Given the description of an element on the screen output the (x, y) to click on. 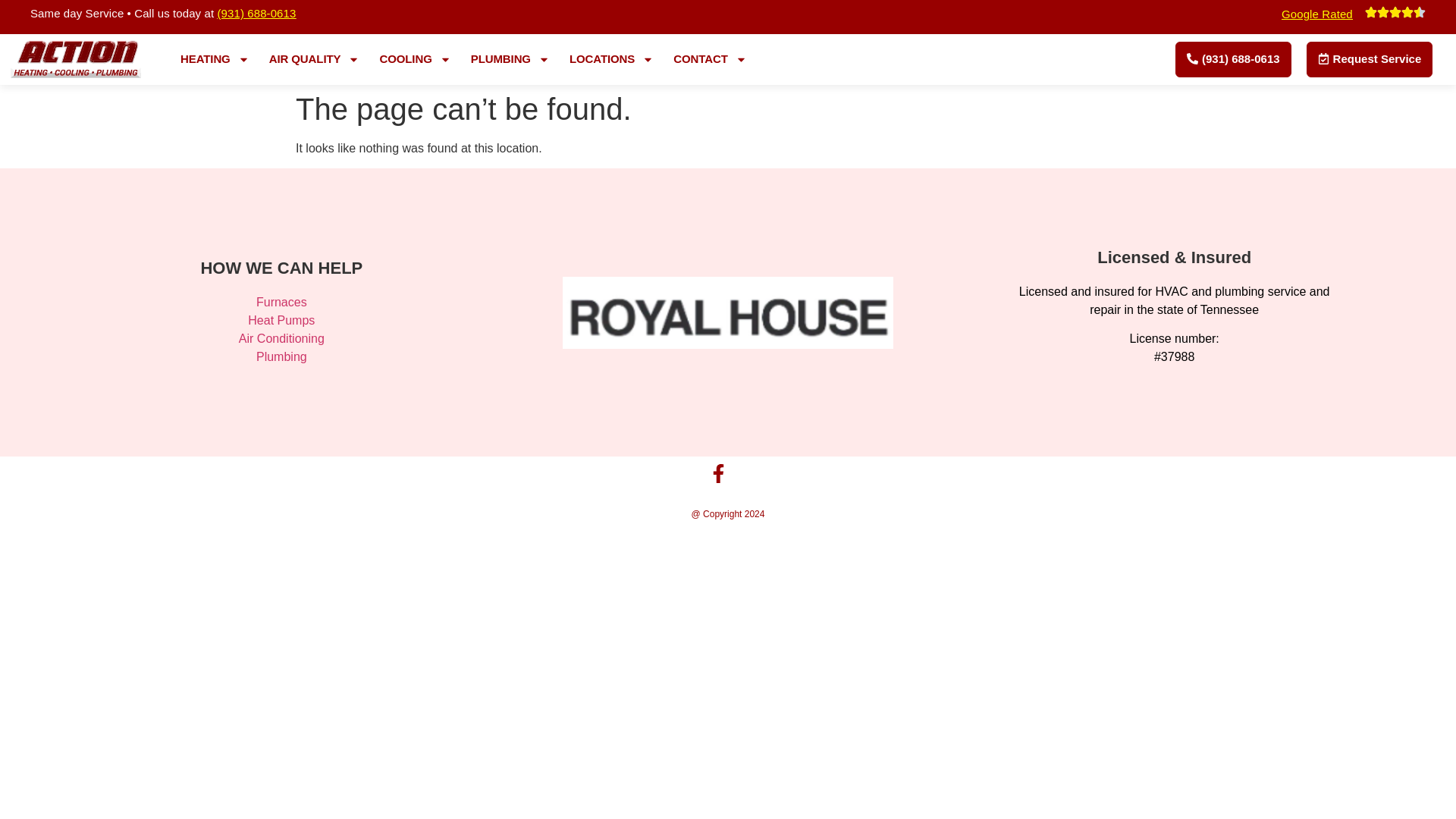
COOLING (414, 58)
AIR QUALITY (314, 58)
Google (1300, 13)
Rated (1335, 13)
HEATING (215, 58)
PLUMBING (510, 58)
